Given the description of an element on the screen output the (x, y) to click on. 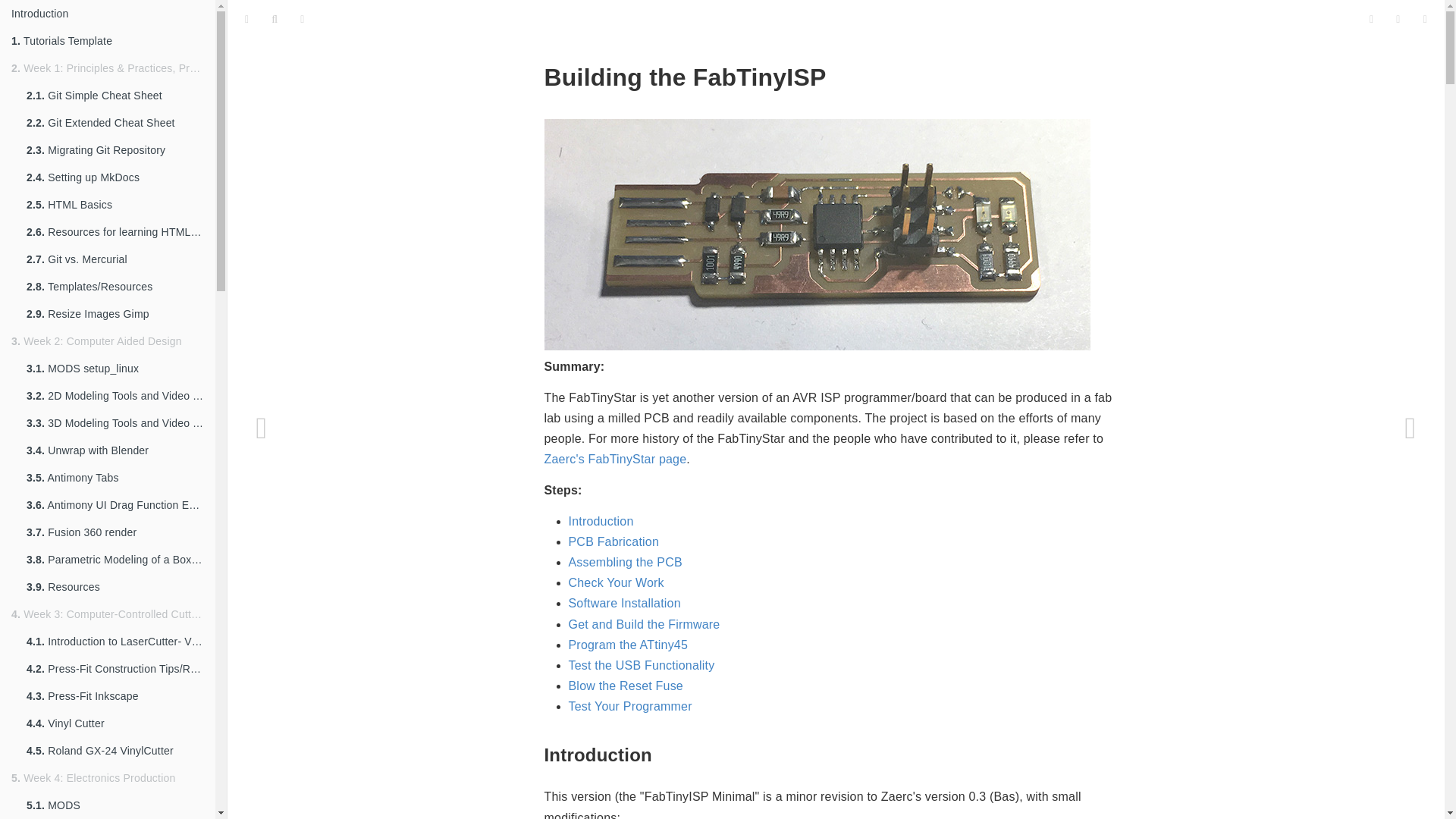
3.6. Antimony UI Drag Function Example (114, 504)
2.5. HTML Basics (114, 204)
2.3. Migrating Git Repository (114, 149)
4.5. Roland GX-24 VinylCutter (114, 750)
2.9. Resize Images Gimp (114, 313)
3.5. Antimony Tabs (114, 477)
3.9. Resources (114, 586)
1. Tutorials Template (107, 40)
Introduction (107, 13)
2.7. Git vs. Mercurial (114, 258)
4.1. Introduction to LaserCutter- Video (114, 641)
2.2. Git Extended Cheat Sheet (114, 122)
2.1. Git Simple Cheat Sheet (114, 94)
3.3. 3D Modeling Tools and Video Tutorials (114, 422)
3.8. Parametric Modeling of a Box Beam in Antimony (114, 559)
